Given the description of an element on the screen output the (x, y) to click on. 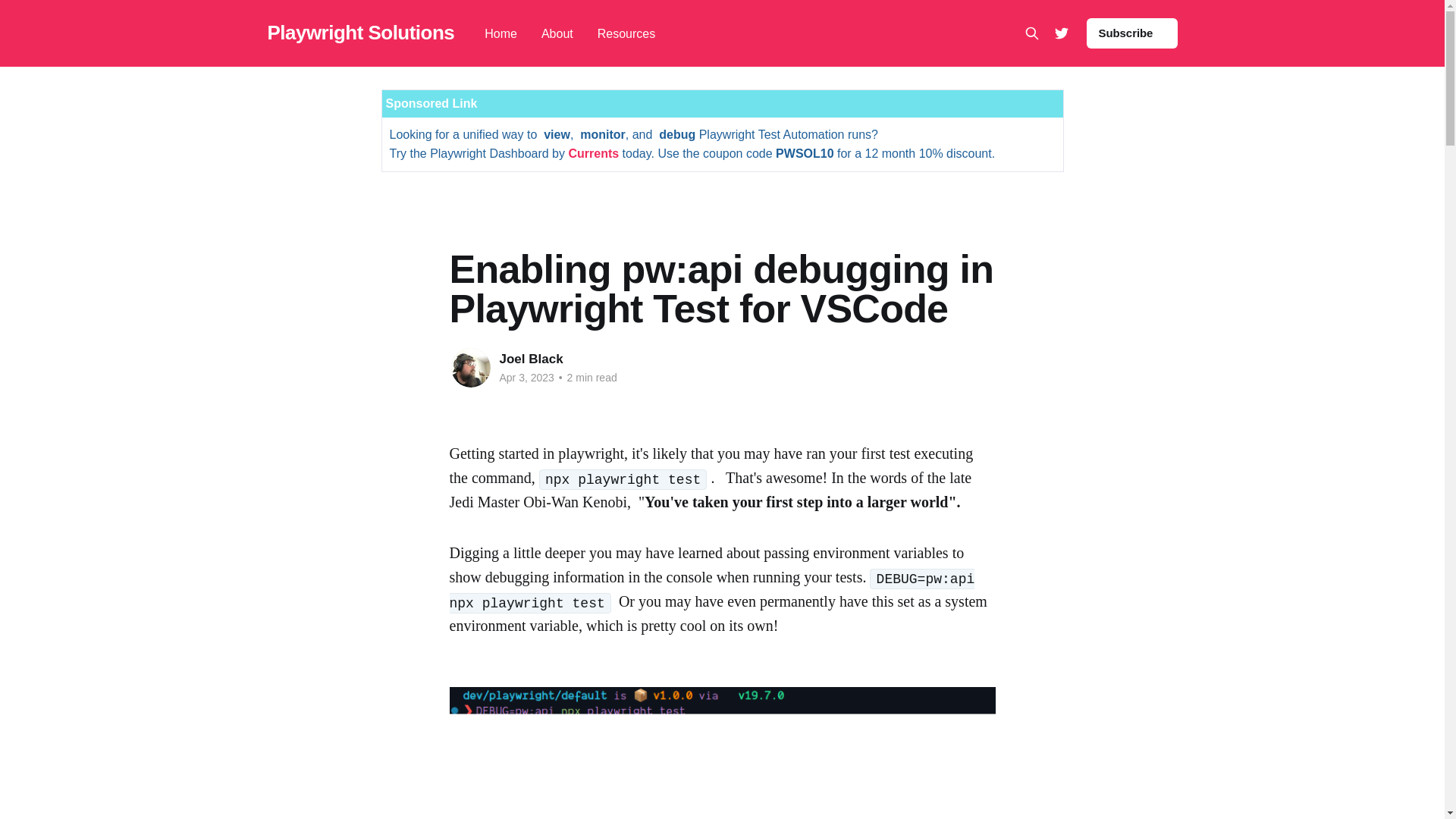
Joel Black (530, 359)
Home (500, 33)
Twitter (1060, 33)
About (557, 33)
Playwright Solutions (360, 32)
Resources (625, 33)
Currents (592, 153)
Subscribe (1131, 33)
